Given the description of an element on the screen output the (x, y) to click on. 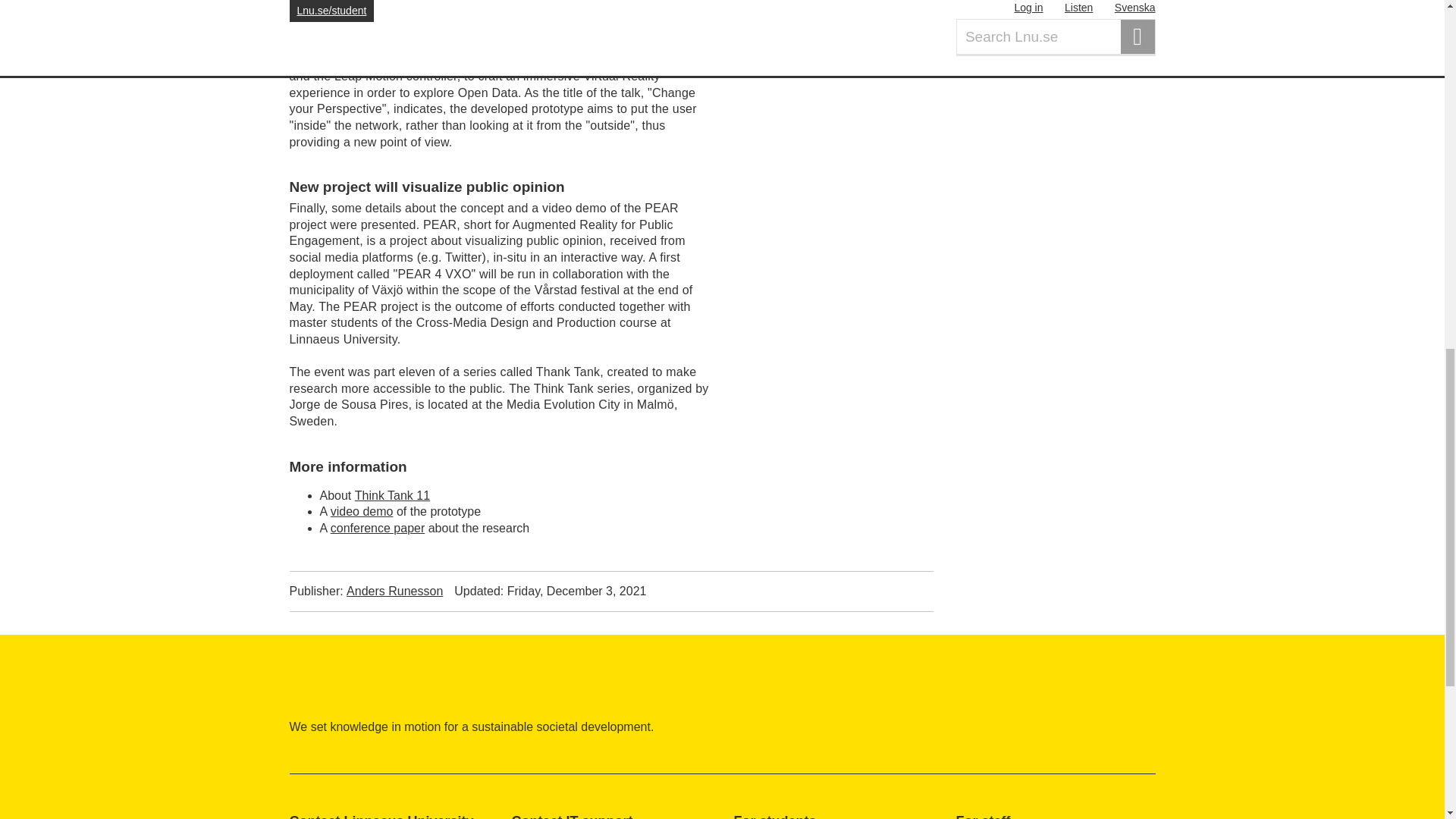
Updated (550, 591)
video demo (361, 511)
conference paper (377, 527)
Think Tank 11 (392, 495)
Publisher (366, 591)
